Given the description of an element on the screen output the (x, y) to click on. 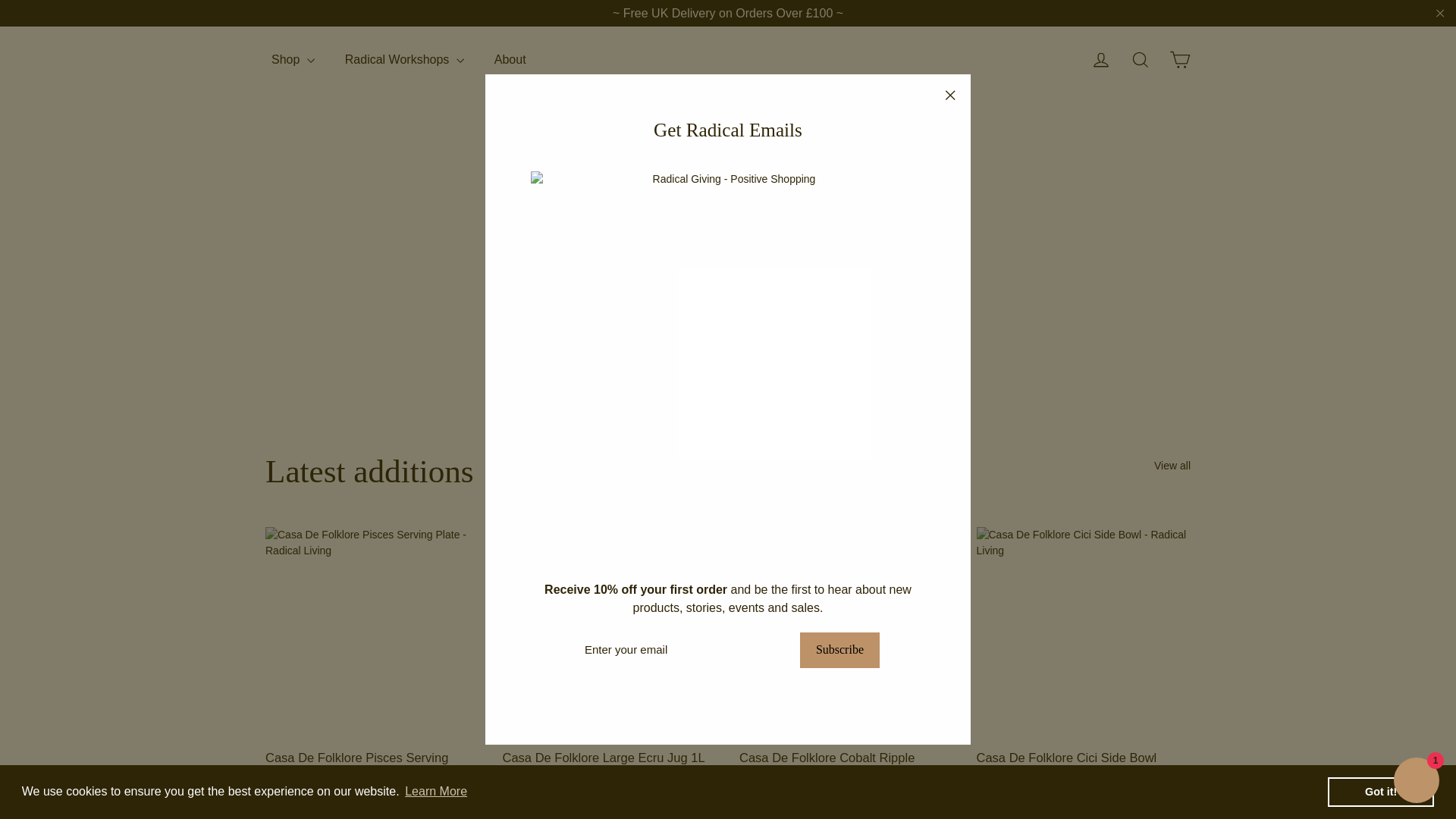
Shopify online store chat (1416, 781)
Learn More (435, 791)
Got it! (1380, 791)
